Given the description of an element on the screen output the (x, y) to click on. 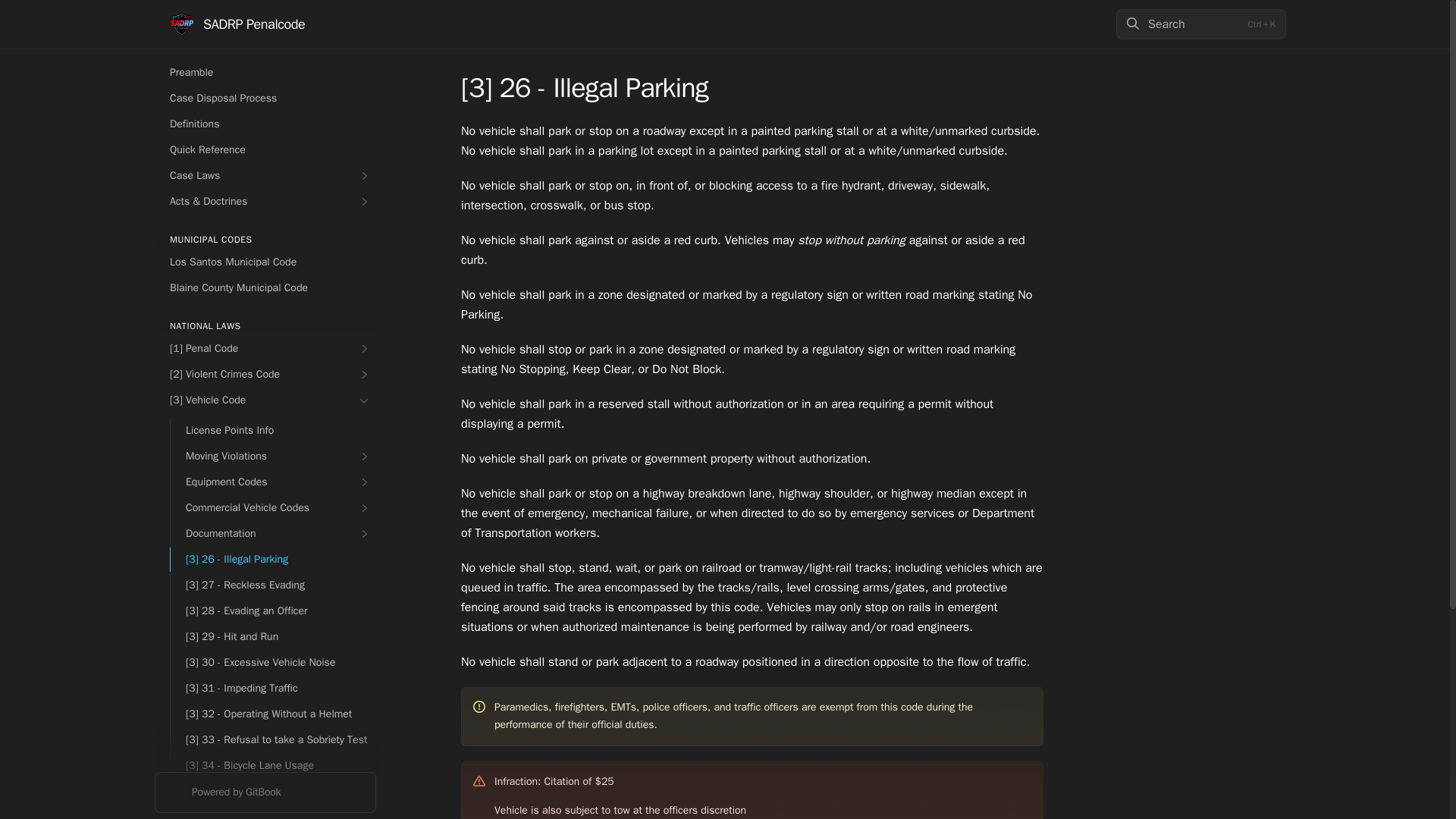
Preamble (264, 72)
Los Santos Municipal Code (264, 262)
Case Disposal Process (264, 98)
Case Laws (264, 175)
Definitions (264, 124)
SADRP Penalcode (237, 24)
Blaine County Municipal Code (264, 288)
Quick Reference (264, 150)
